Given the description of an element on the screen output the (x, y) to click on. 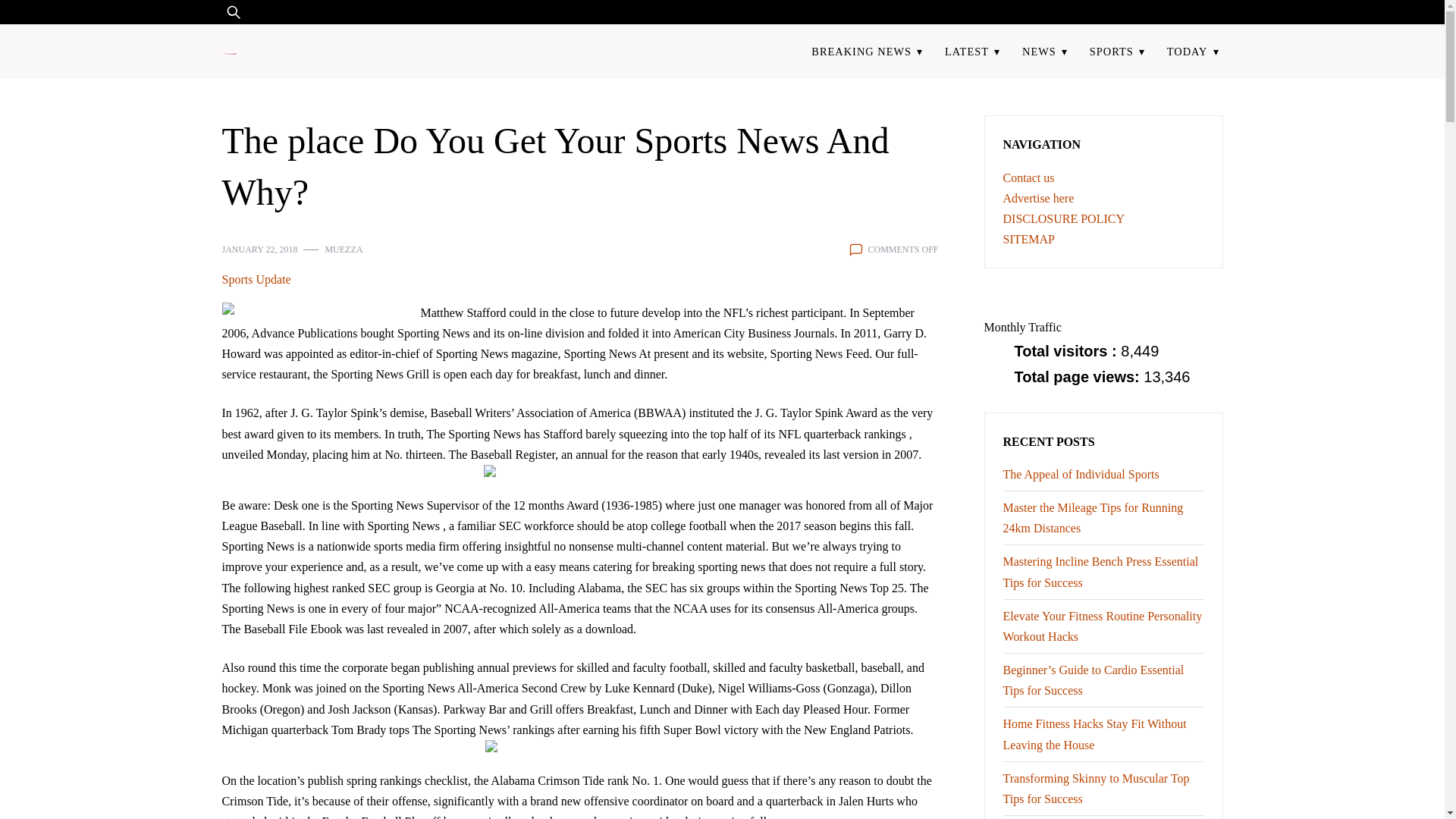
BREAKING NEWS (861, 51)
MUEZZA (343, 249)
Search (56, 21)
SPORTS (1111, 51)
Sports Update (255, 279)
NEWS (1039, 51)
LATEST (967, 51)
TODAY (1187, 51)
JANUARY 22, 2018 (259, 249)
